Given the description of an element on the screen output the (x, y) to click on. 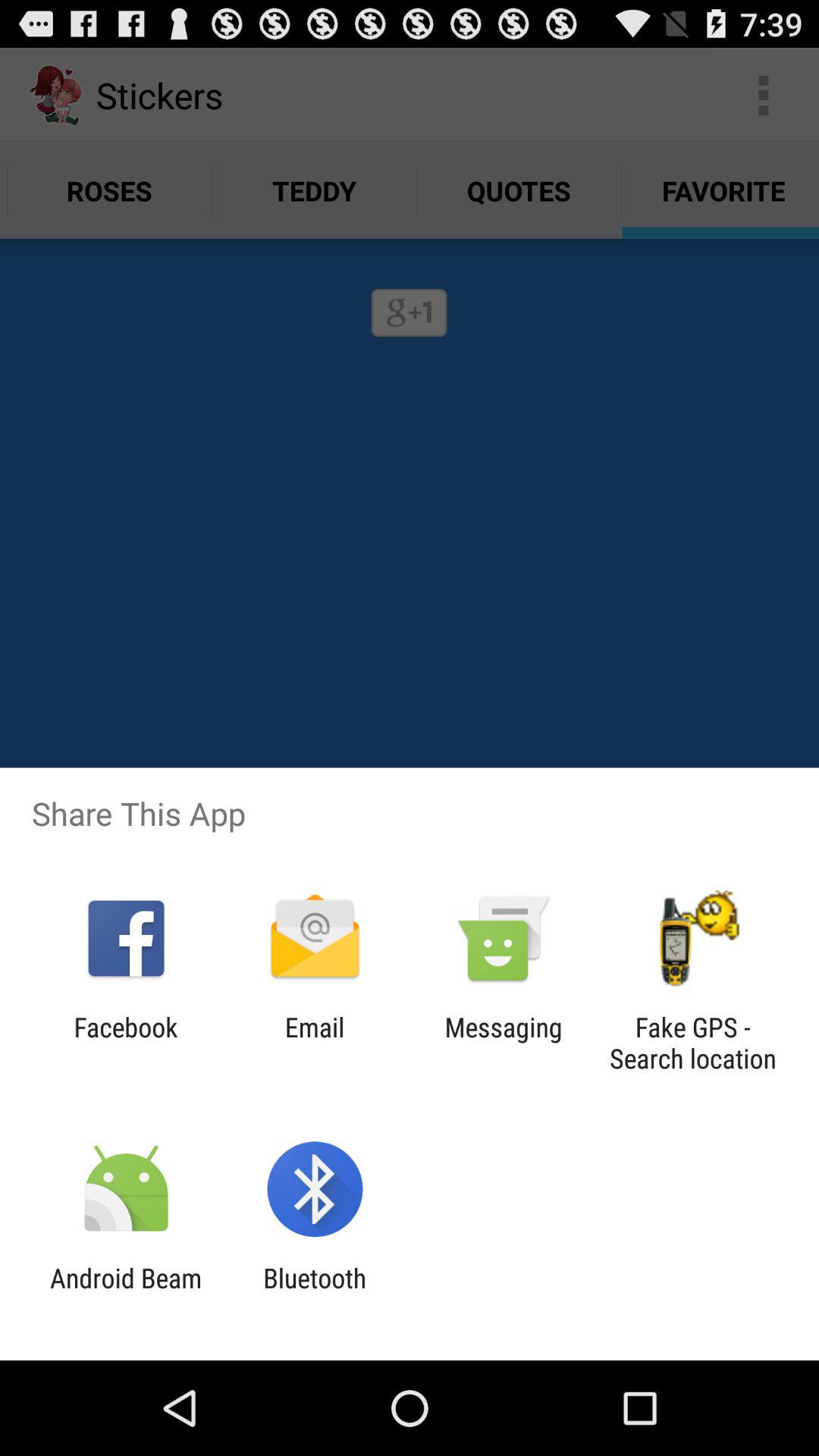
turn off messaging (503, 1042)
